Given the description of an element on the screen output the (x, y) to click on. 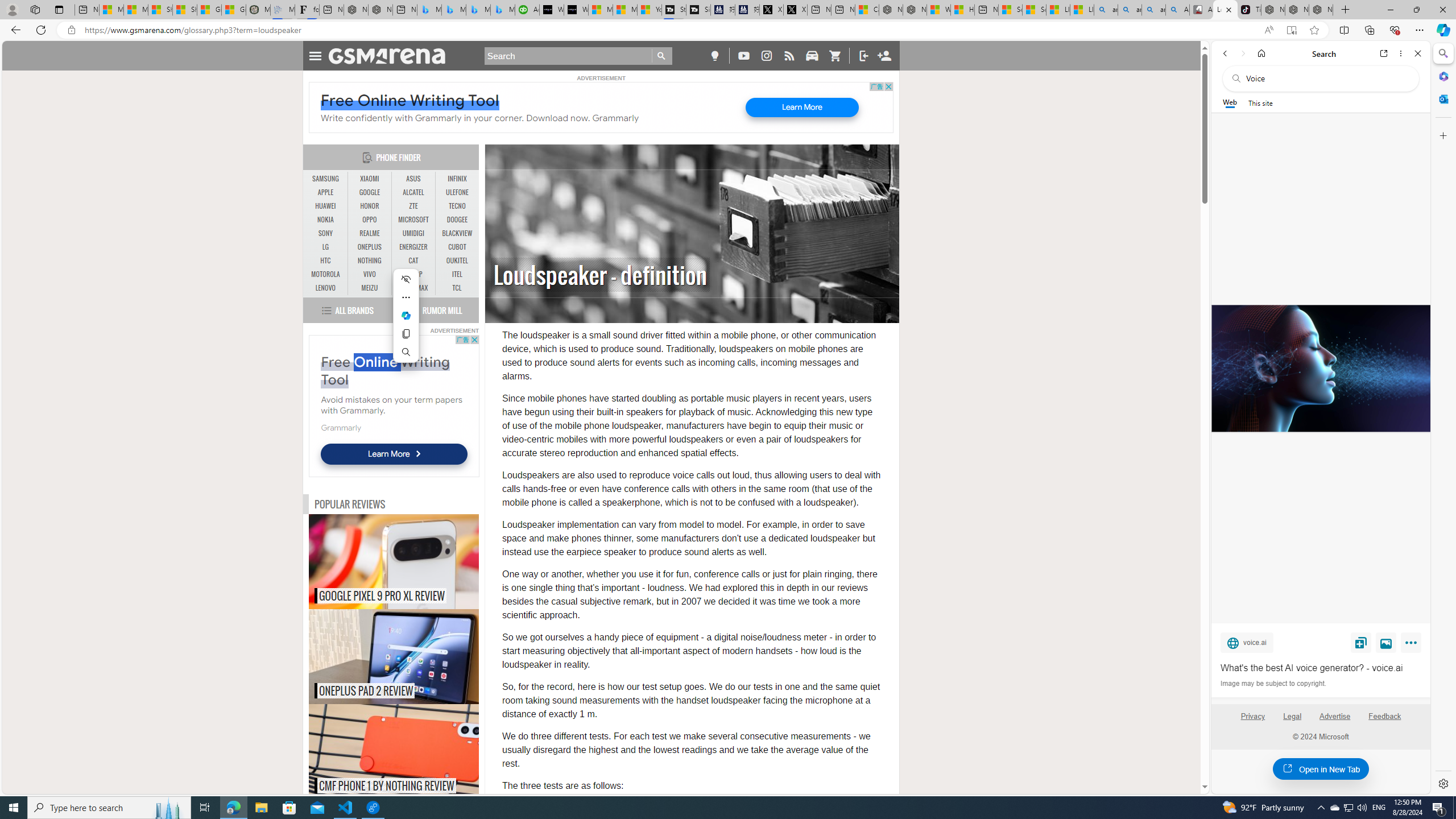
Microsoft Start Sports (600, 9)
NOTHING (369, 260)
MICROMAX (413, 287)
CUBOT (457, 246)
Hide menu (406, 279)
OPPO (369, 219)
Privacy (1252, 715)
VIVO (369, 273)
MEIZU (369, 287)
amazon - Search (1129, 9)
Copy (406, 334)
